Given the description of an element on the screen output the (x, y) to click on. 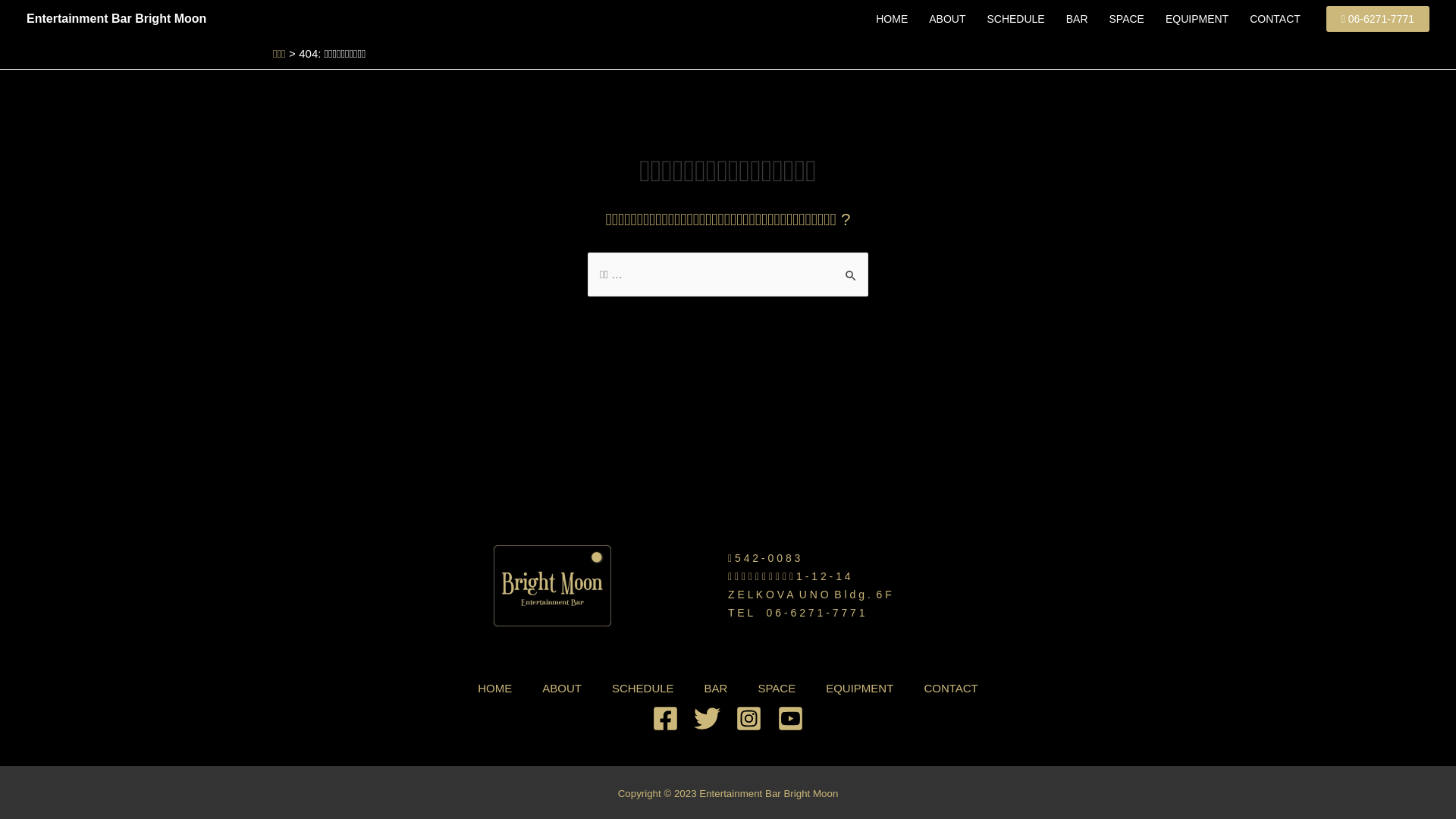
ABOUT Element type: text (561, 688)
CONTACT Element type: text (950, 688)
Entertainment Bar Bright Moon Element type: text (116, 18)
BAR Element type: text (716, 688)
EQUIPMENT Element type: text (1196, 18)
HOME Element type: text (891, 18)
SCHEDULE Element type: text (642, 688)
SPACE Element type: text (776, 688)
SPACE Element type: text (1126, 18)
ABOUT Element type: text (946, 18)
EQUIPMENT Element type: text (859, 688)
HOME Element type: text (494, 688)
Entertainment Bar Bright Moon Element type: text (768, 792)
SCHEDULE Element type: text (1014, 18)
CONTACT Element type: text (1275, 18)
BAR Element type: text (1076, 18)
